Given the description of an element on the screen output the (x, y) to click on. 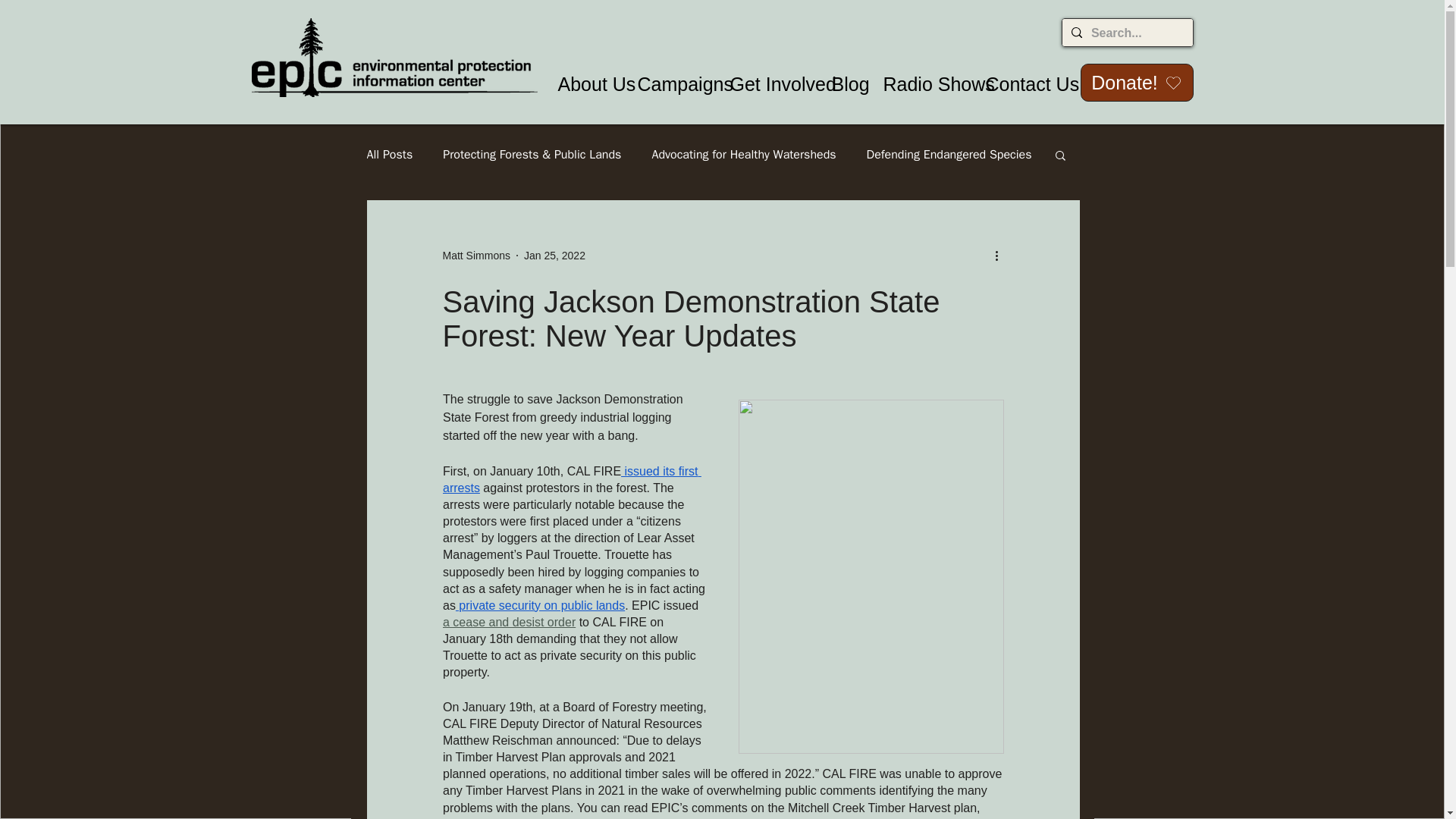
Jan 25, 2022 (554, 254)
Campaigns (672, 84)
Donate! (1136, 82)
Blog (846, 84)
Radio Shows (923, 84)
Contact Us (1019, 84)
All Posts (389, 154)
Get Involved (770, 84)
Advocating for Healthy Watersheds (742, 154)
Defending Endangered Species (949, 154)
Matt Simmons (476, 254)
